Given the description of an element on the screen output the (x, y) to click on. 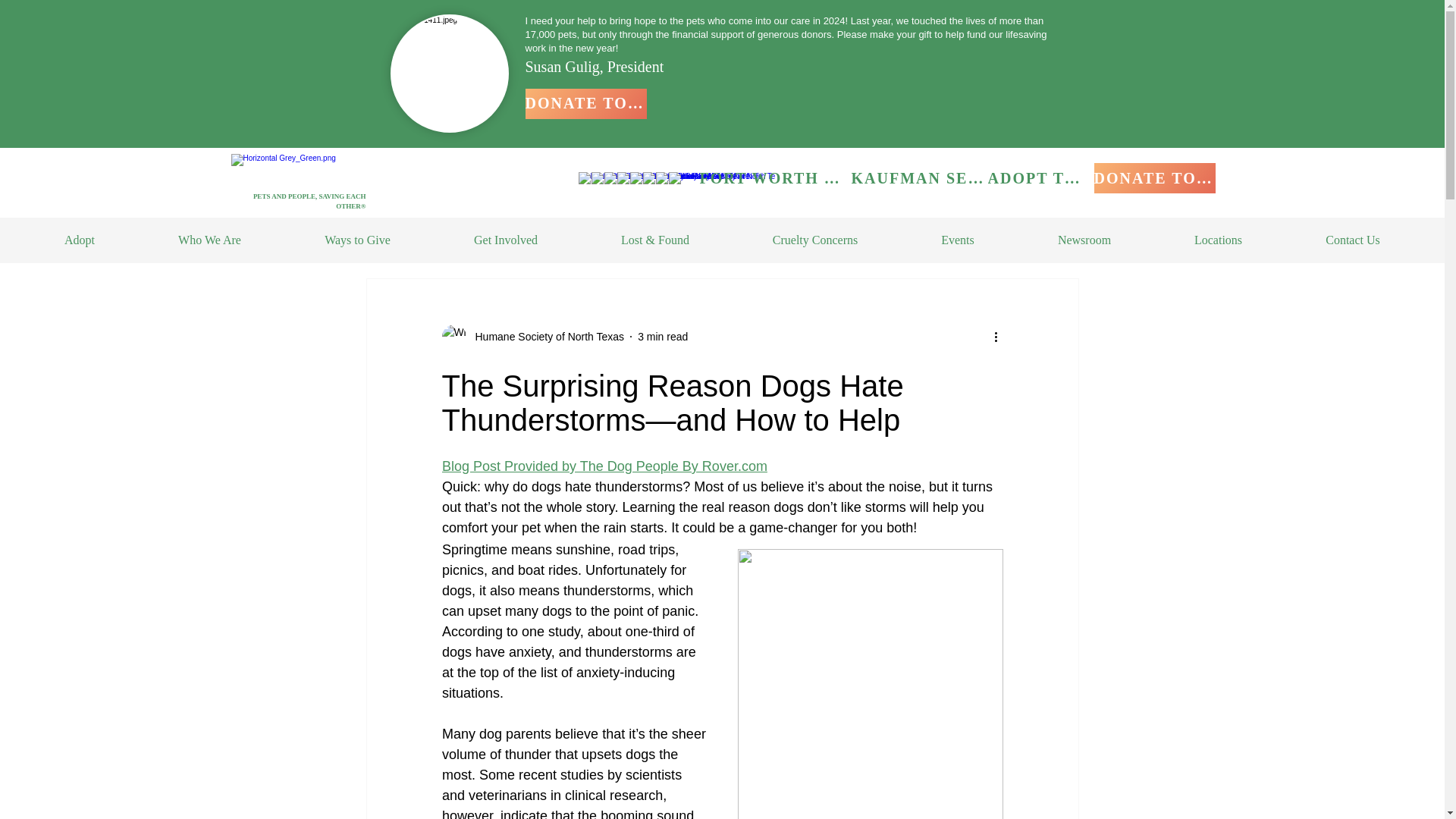
Humane Society of North Texas (544, 336)
ADOPT TODAY (1040, 177)
FORT WORTH SERVICES (774, 177)
DONATE TODAY (1153, 177)
KAUFMAN SERVICES (918, 177)
DONATE TODAY (585, 103)
3 min read (662, 336)
Ways to Give (357, 240)
Who We Are (209, 240)
Adopt (79, 240)
